Given the description of an element on the screen output the (x, y) to click on. 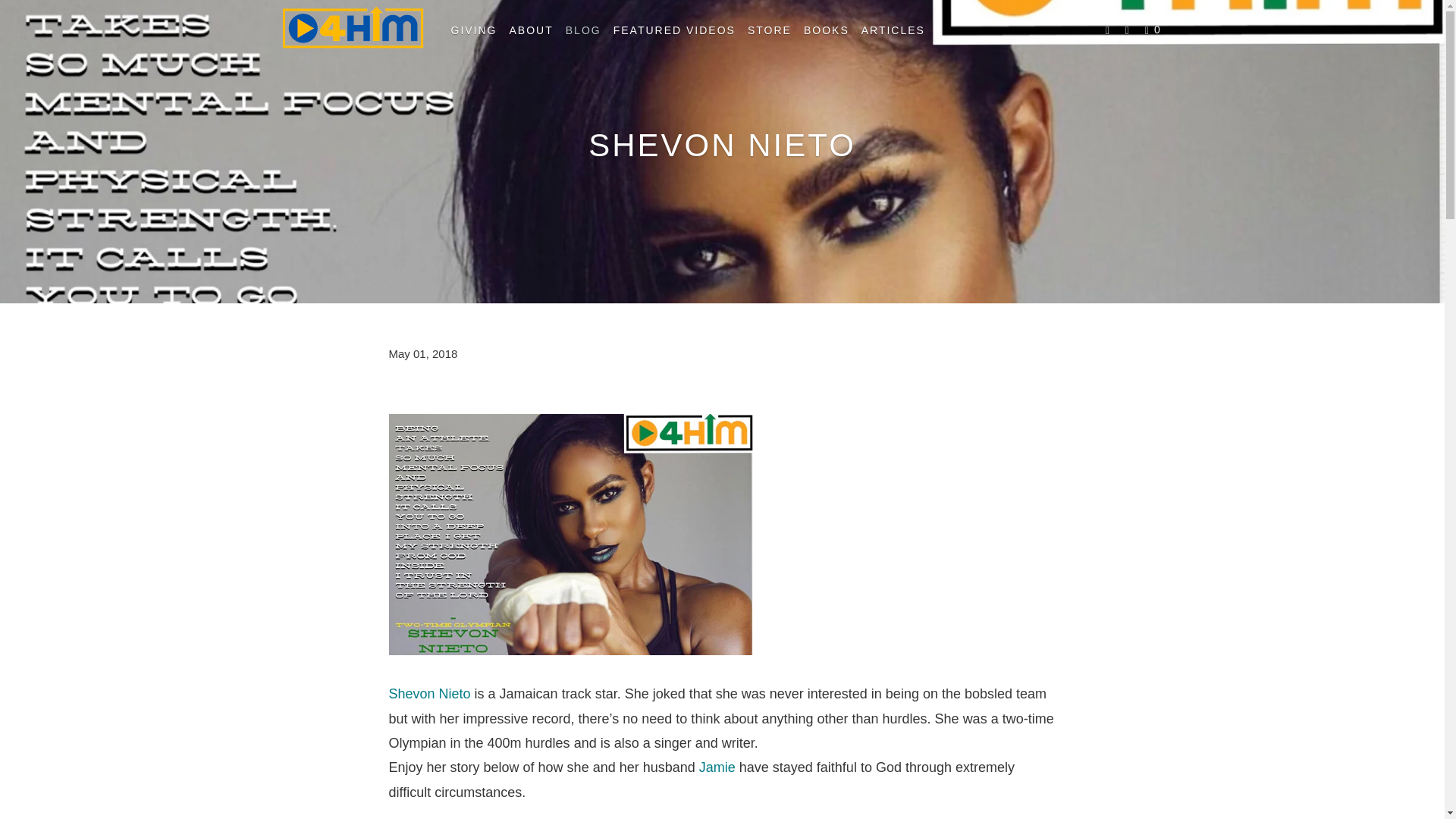
0 (1154, 30)
Play4Him (352, 31)
ARTICLES (893, 30)
STORE (769, 30)
Shevon's Play4Him (429, 693)
Shevon Nieto (429, 693)
BOOKS (825, 30)
Jamie's Blog (716, 767)
FEATURED VIDEOS (674, 30)
BLOG (583, 30)
GIVING (472, 30)
ABOUT (531, 30)
Jamie (716, 767)
